Given the description of an element on the screen output the (x, y) to click on. 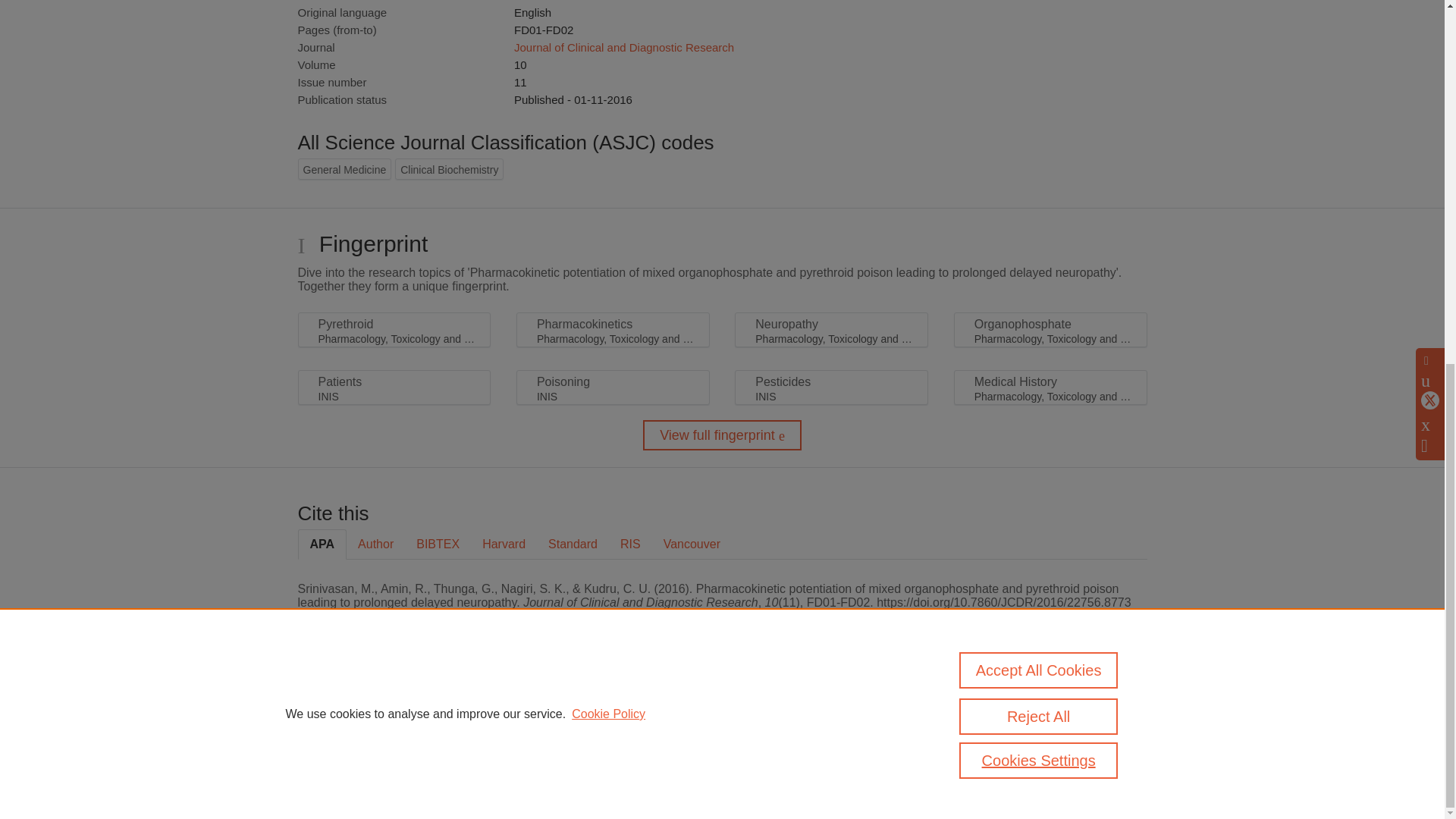
Scopus (394, 708)
View full fingerprint (722, 435)
Pure (362, 708)
Journal of Clinical and Diagnostic Research (623, 47)
